Given the description of an element on the screen output the (x, y) to click on. 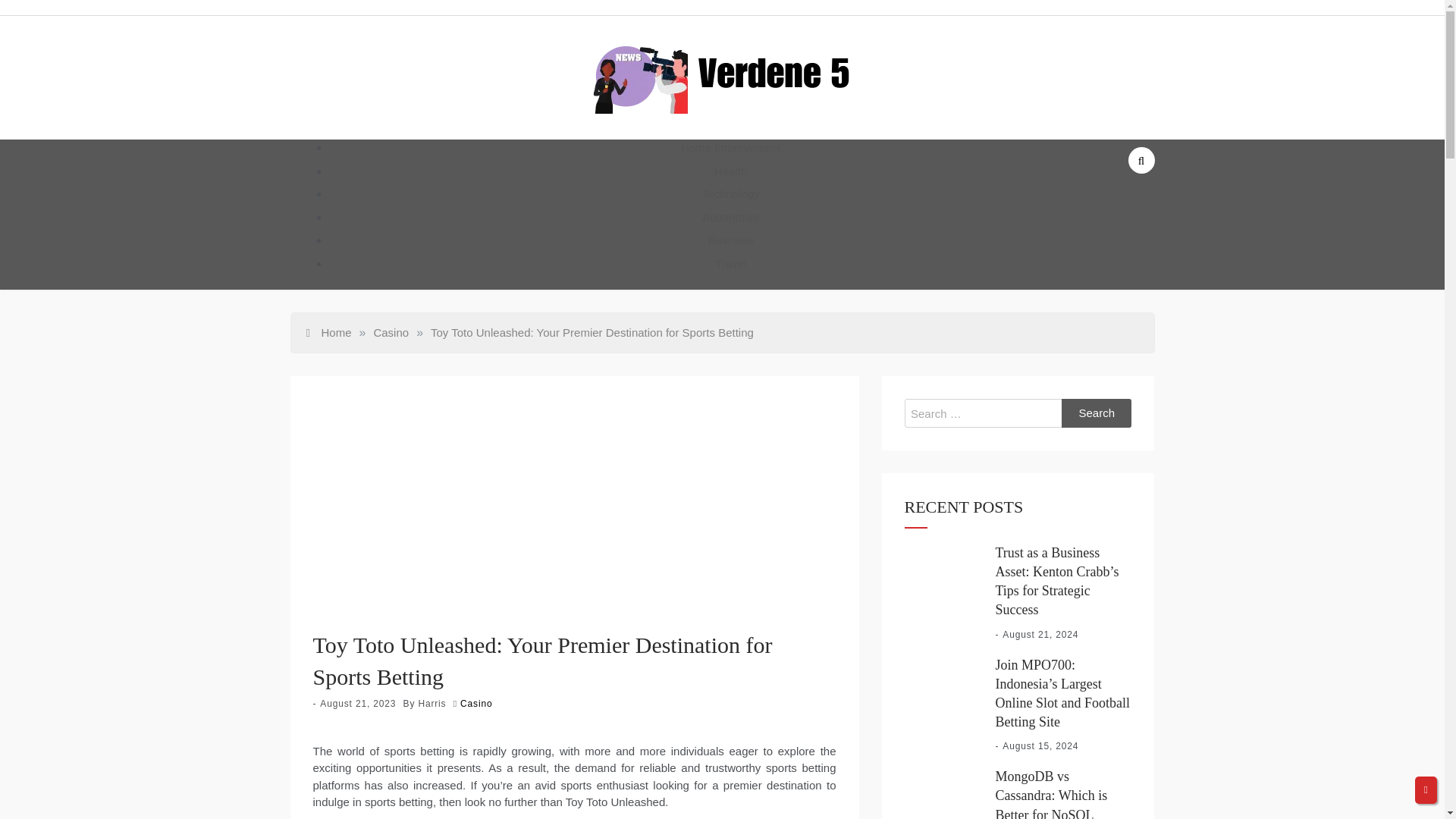
Technology (730, 193)
Business (730, 239)
Harris (431, 703)
Health (730, 169)
August 21, 2023 (358, 703)
Casino (390, 332)
Search (1096, 412)
Automotive (729, 216)
Search (1096, 412)
